Given the description of an element on the screen output the (x, y) to click on. 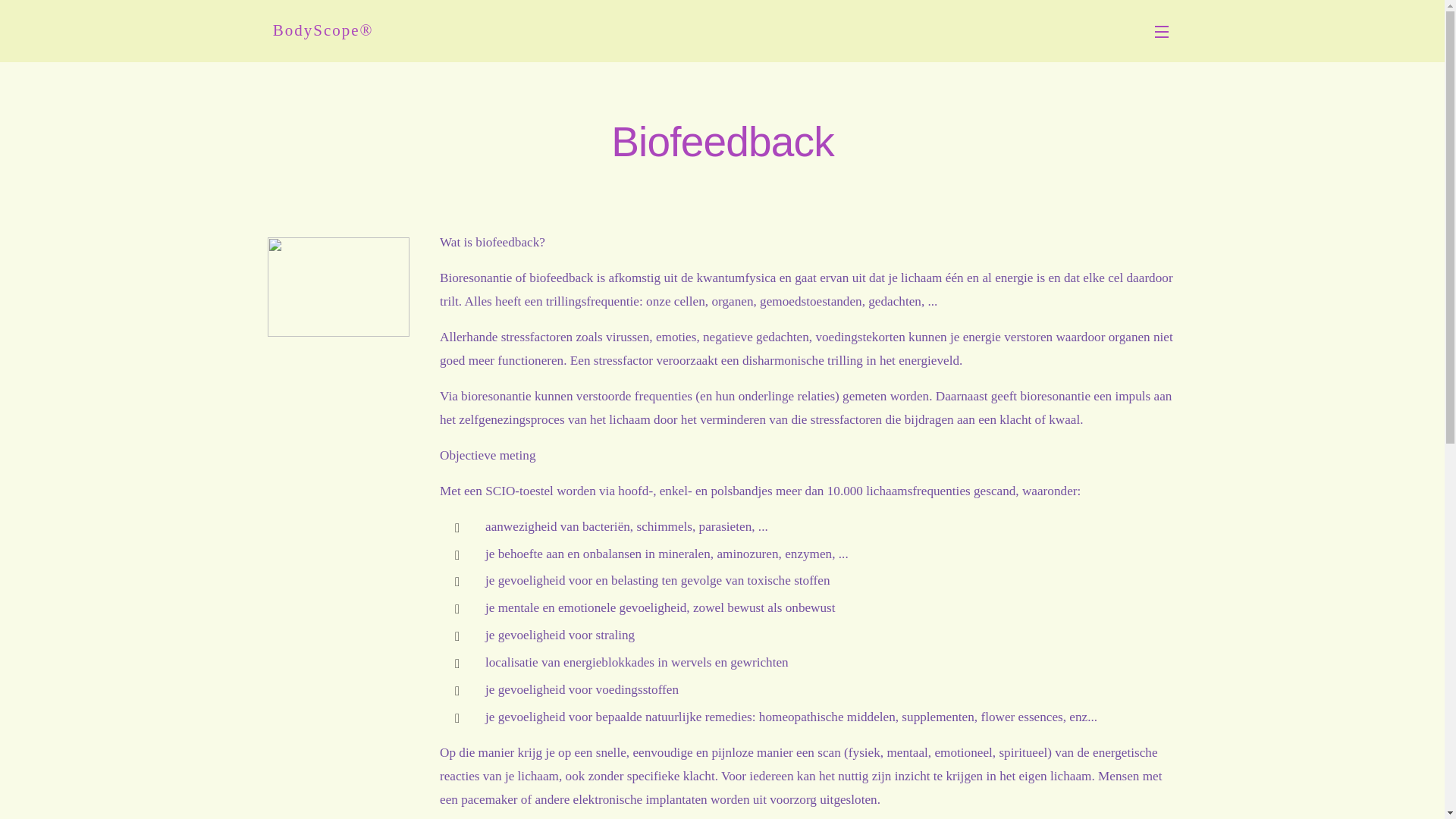
Menu Element type: text (1165, 30)
